Given the description of an element on the screen output the (x, y) to click on. 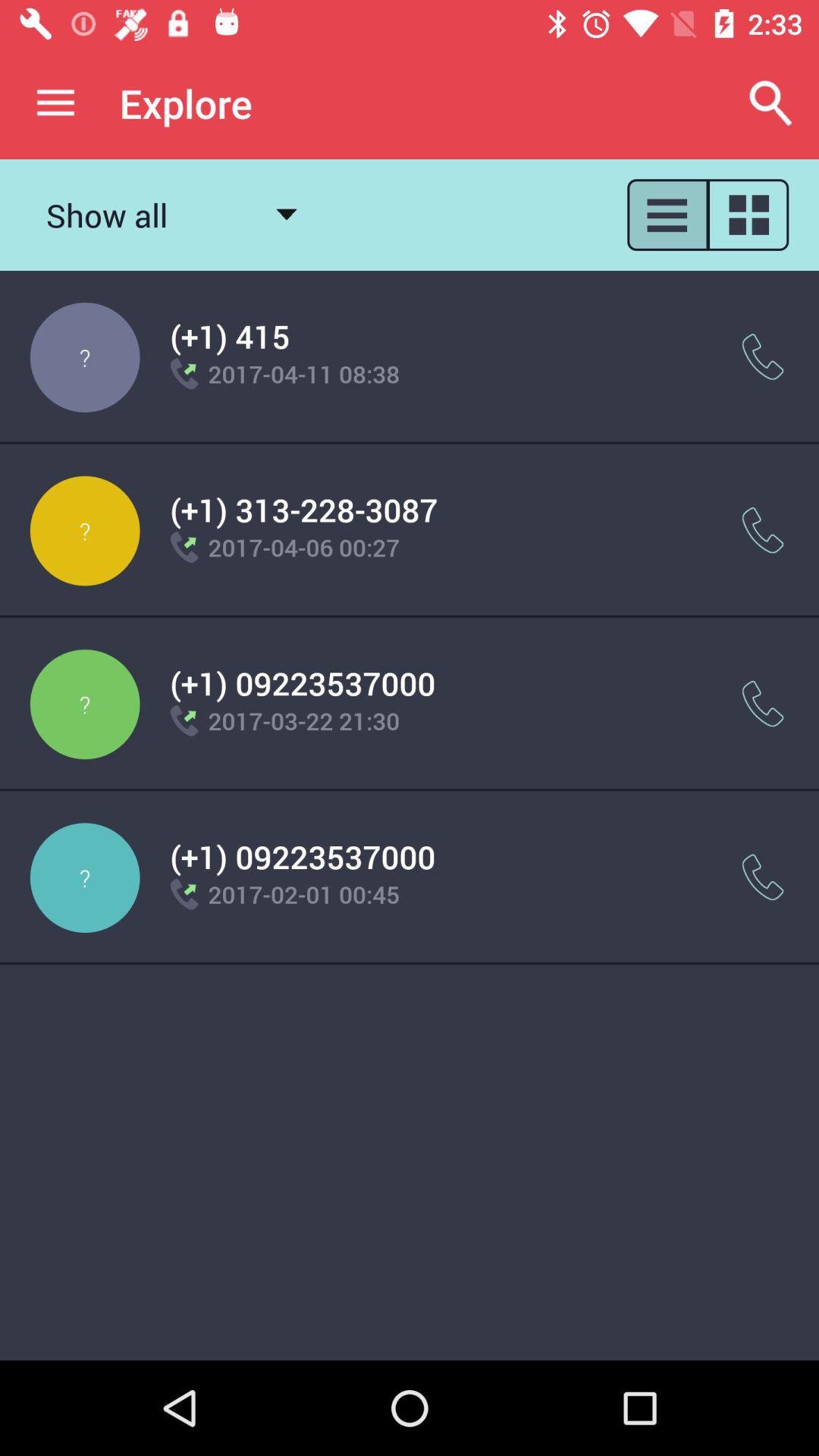
turn on item to the right of the (+1) 09223537000 icon (762, 703)
